Given the description of an element on the screen output the (x, y) to click on. 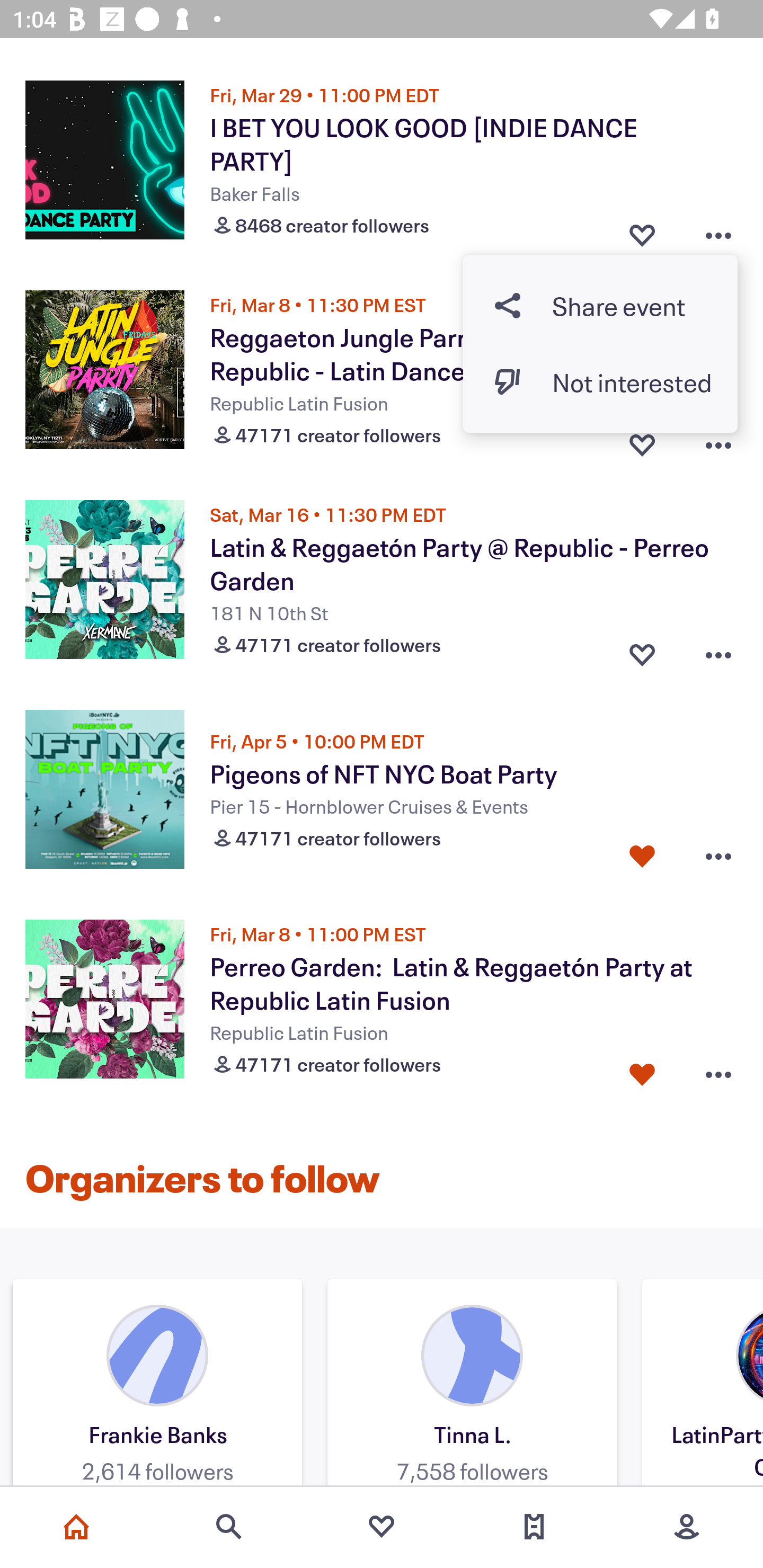
Share button Share event (600, 305)
Dislike event button Not interested (600, 381)
